Given the description of an element on the screen output the (x, y) to click on. 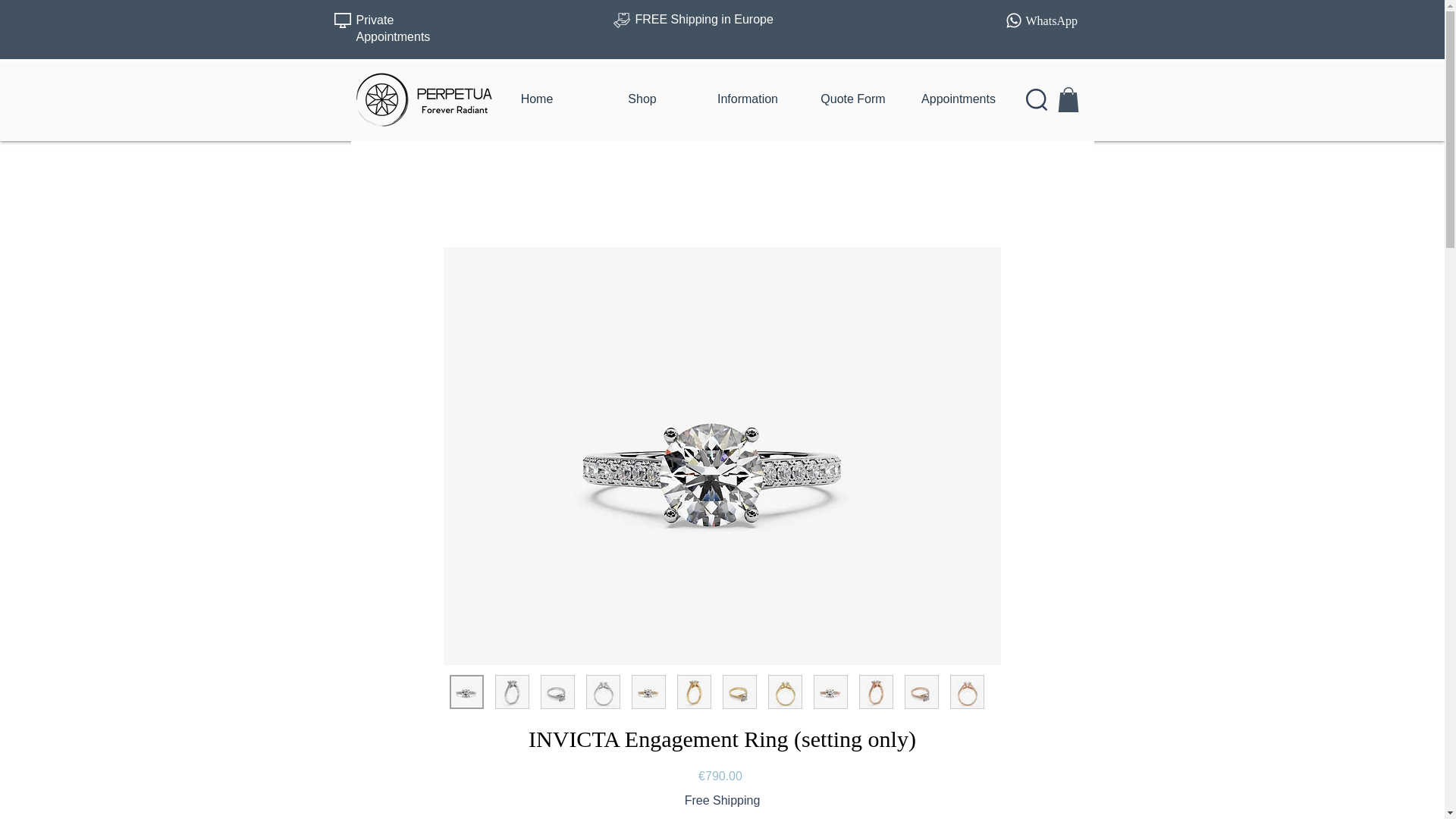
Shop (642, 98)
Information (746, 98)
WhatsApp (1051, 18)
Quote Form (852, 98)
Private Appointments (393, 28)
Home (536, 98)
Appointments (957, 98)
